Given the description of an element on the screen output the (x, y) to click on. 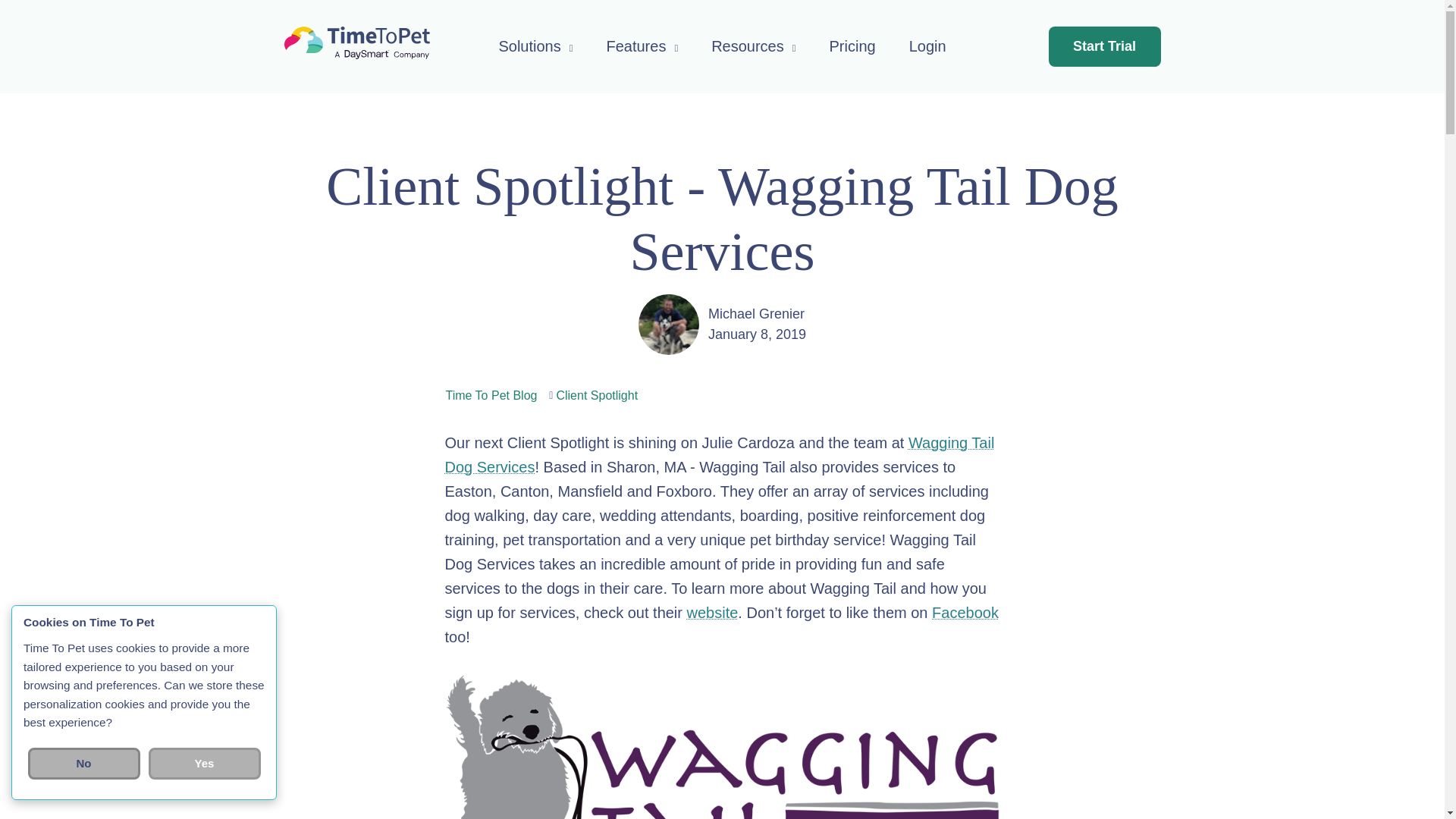
Wagging Tail Dog Services (719, 454)
website (712, 612)
Login (927, 46)
Facebook (964, 612)
Start Trial (1104, 46)
Time To Pet Blog (491, 395)
Client Spotlight (596, 395)
Features (641, 46)
Solutions (534, 46)
Resources (752, 46)
